Given the description of an element on the screen output the (x, y) to click on. 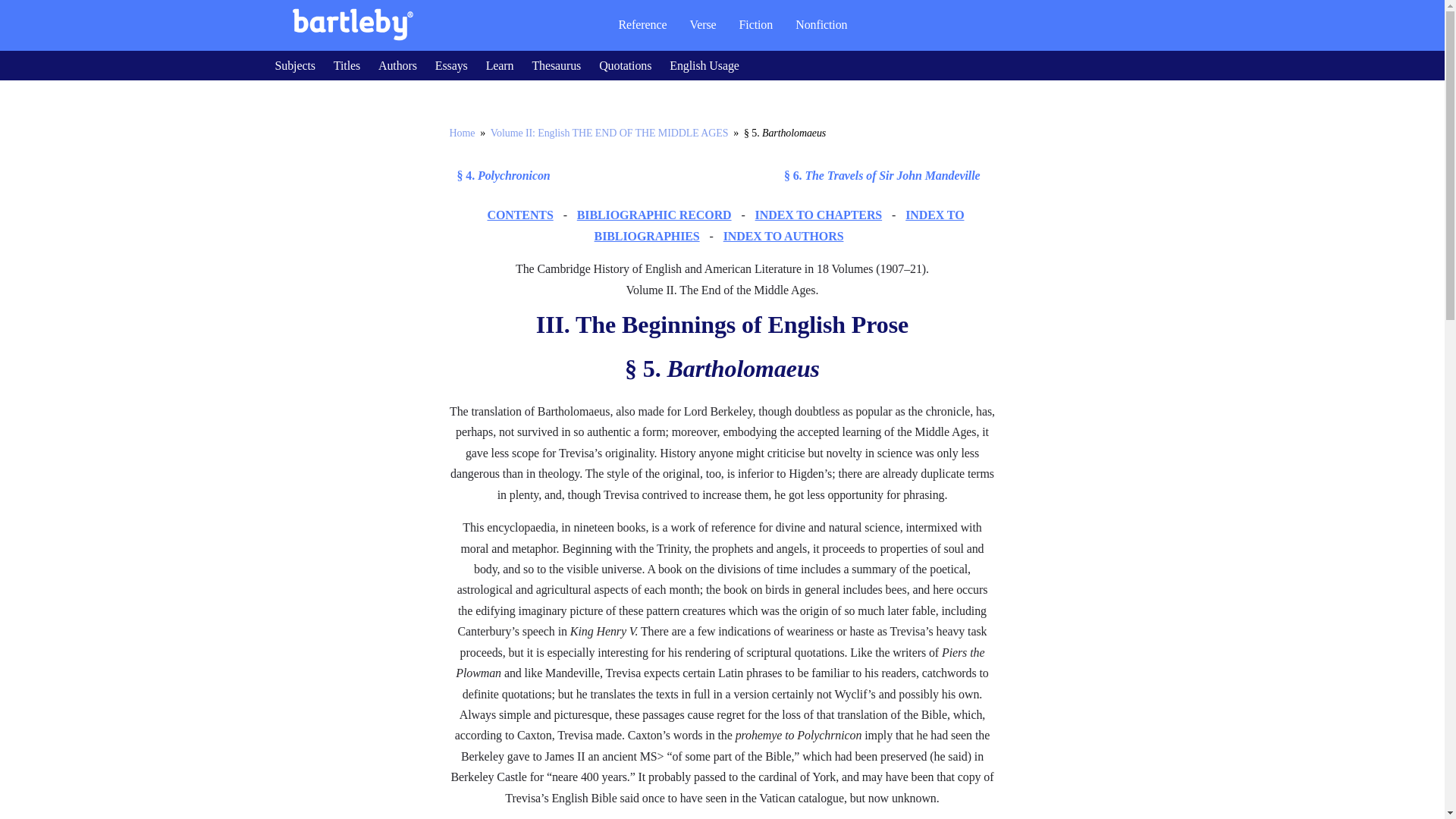
Verse (702, 24)
Titles (346, 65)
Essays (451, 65)
Home (461, 132)
Learn (499, 65)
Nonfiction (821, 24)
Authors (397, 65)
Thesaurus (555, 65)
Reference (642, 24)
INDEX TO AUTHORS (783, 236)
Quotations (624, 65)
Subjects (294, 65)
CONTENTS (519, 214)
English Usage (704, 65)
